Given the description of an element on the screen output the (x, y) to click on. 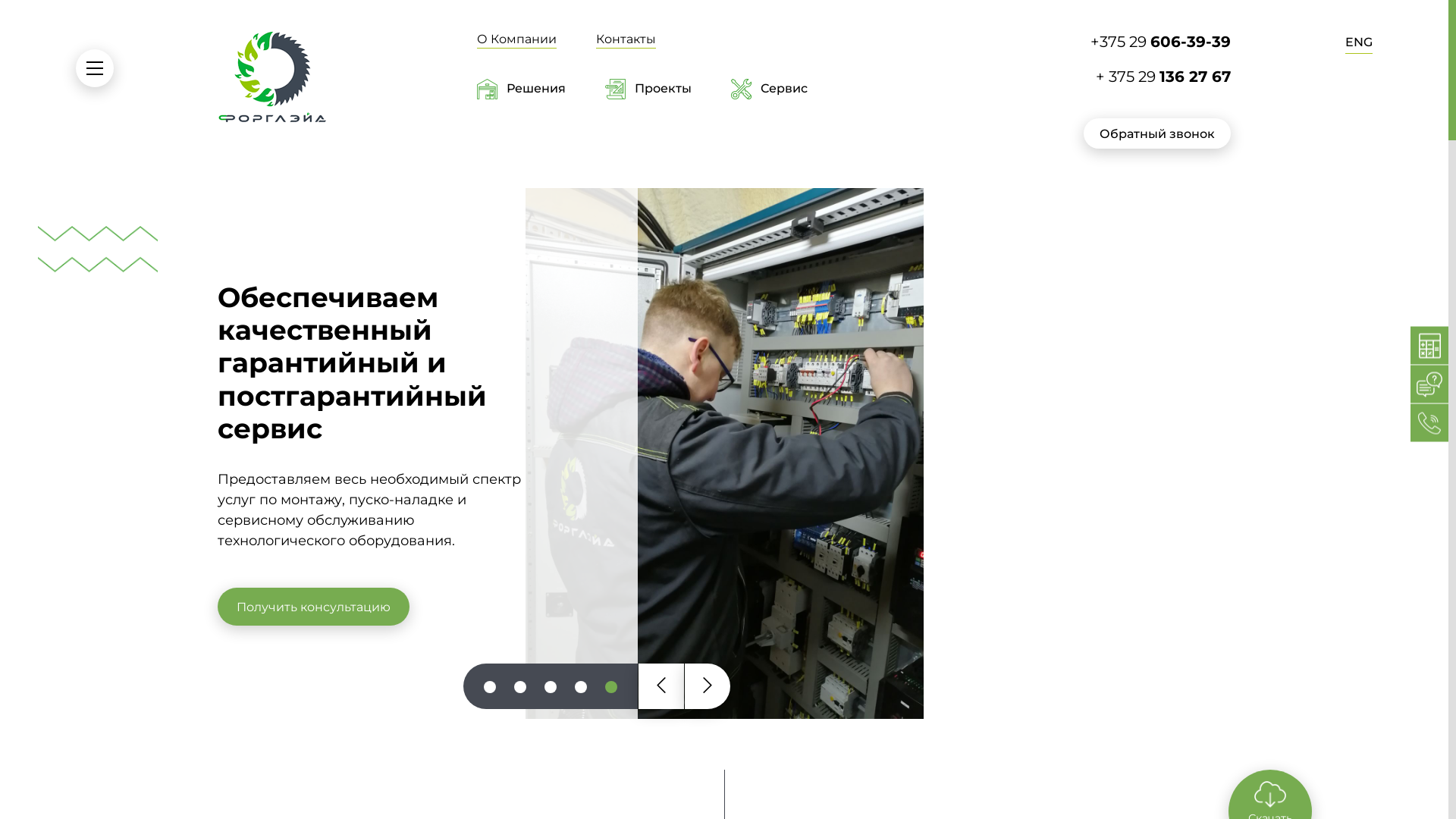
+375 29 606-39-39 Element type: text (1112, 41)
ENG Element type: text (1358, 43)
2 Element type: text (520, 686)
1 Element type: text (489, 686)
3 Element type: text (550, 686)
+ 375 29 136 27 67 Element type: text (1112, 76)
4 Element type: text (580, 686)
5 Element type: text (611, 686)
